Given the description of an element on the screen output the (x, y) to click on. 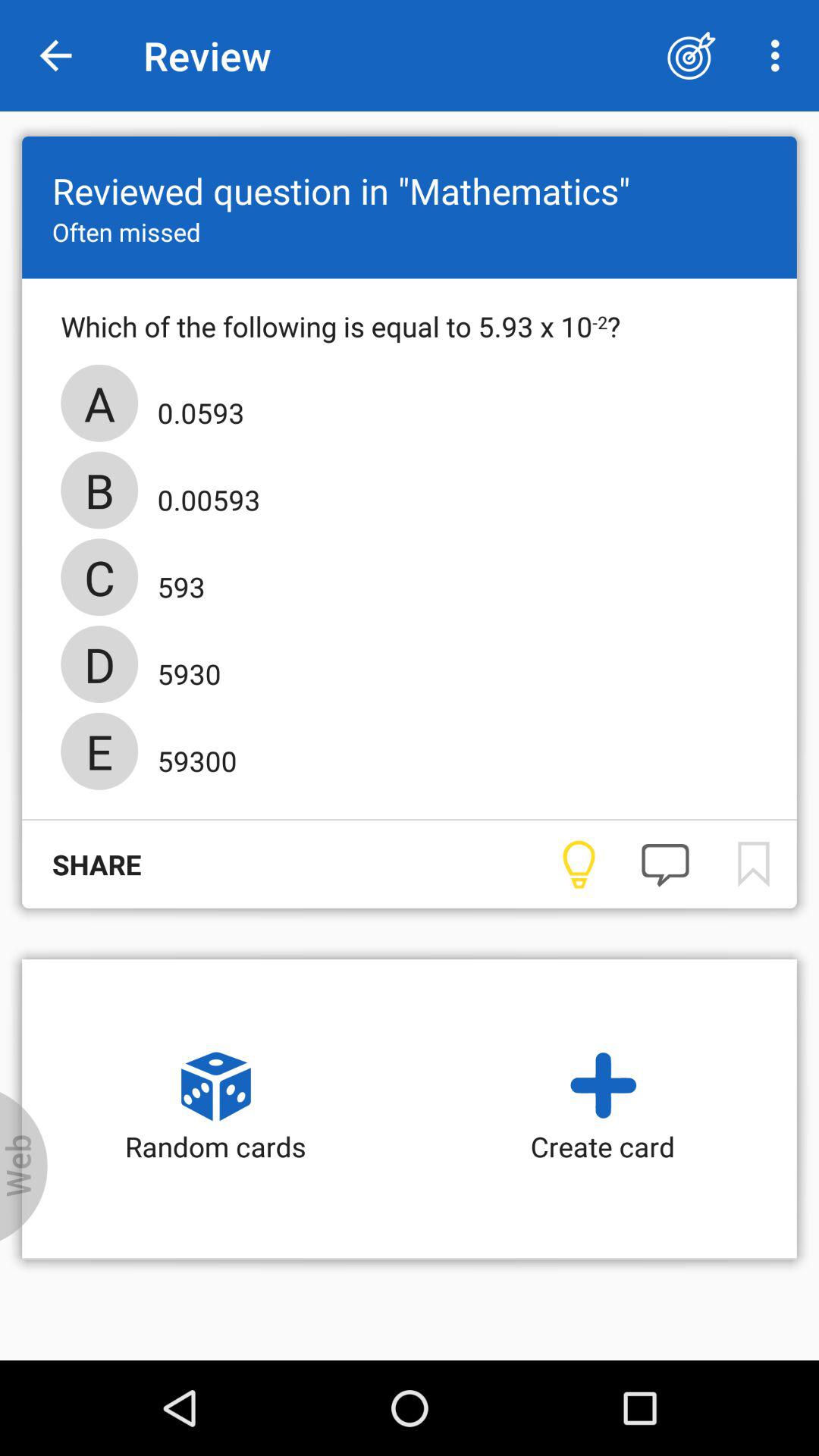
open icon to the left of random cards icon (23, 1166)
